Given the description of an element on the screen output the (x, y) to click on. 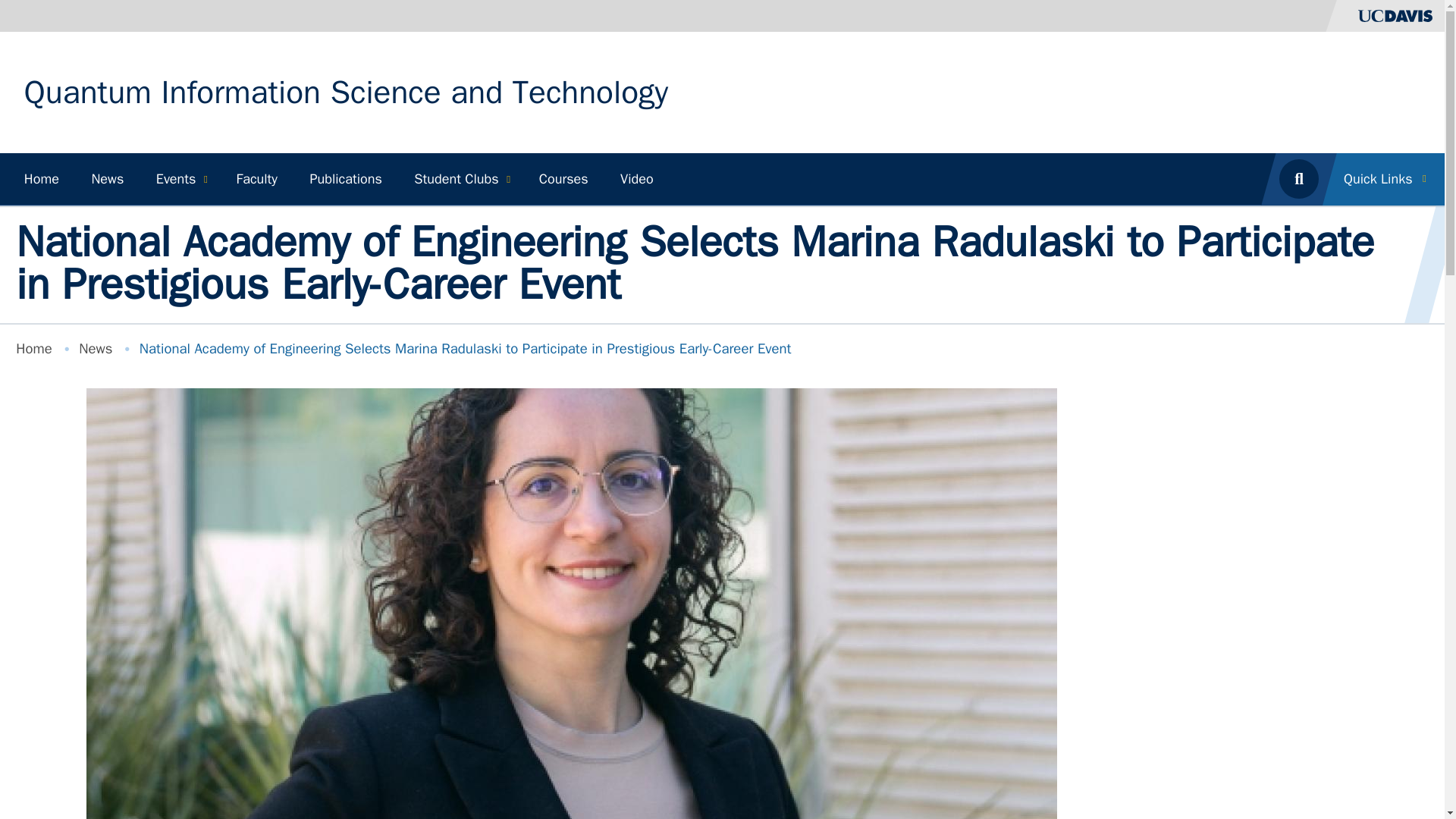
QuIST video content (637, 179)
Publications (345, 179)
News (95, 348)
UC Davis QIST publications (345, 179)
Events (179, 179)
Home (346, 92)
Home (34, 348)
Faculty (256, 179)
Student Clubs (460, 179)
News (107, 179)
QuIST courses at UC Davis (563, 179)
Quantum Information Science and Technology (346, 92)
Video (637, 179)
UC Davis Student Clubs (460, 179)
